Given the description of an element on the screen output the (x, y) to click on. 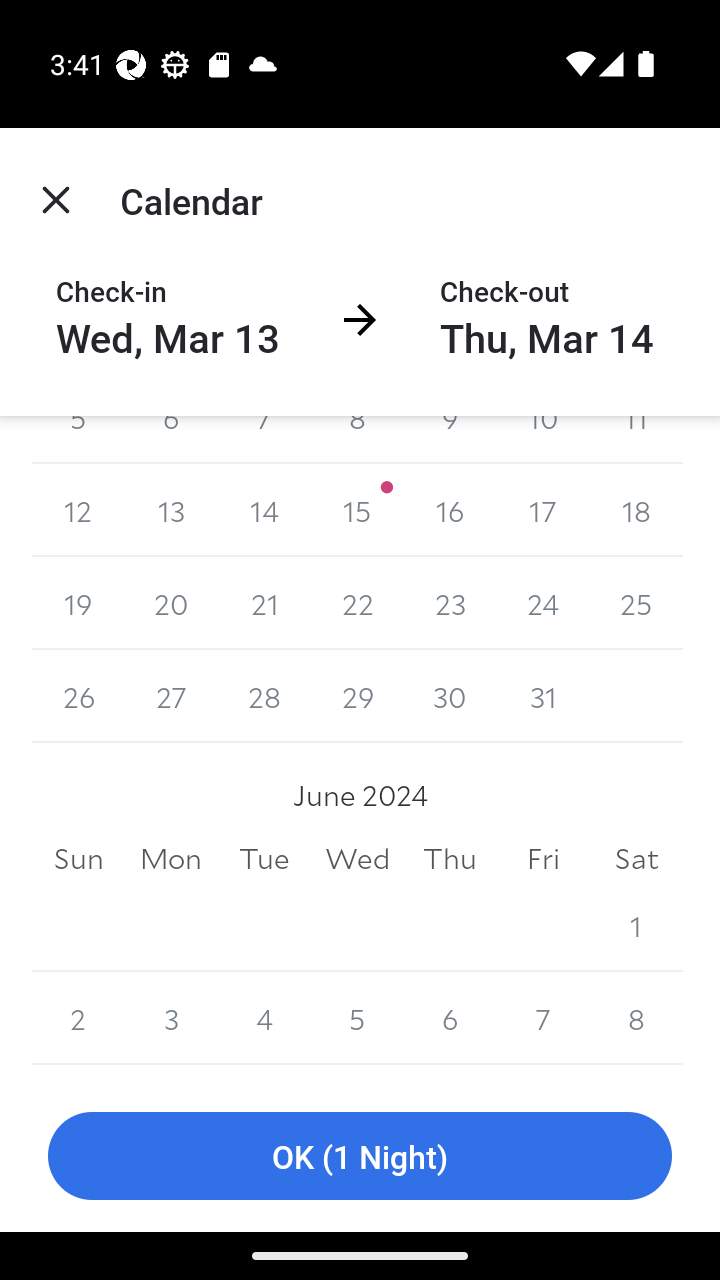
12 12 May 2024 (78, 509)
13 13 May 2024 (171, 509)
14 14 May 2024 (264, 509)
15 15 May 2024 (357, 509)
16 16 May 2024 (449, 509)
17 17 May 2024 (542, 509)
18 18 May 2024 (636, 509)
19 19 May 2024 (78, 603)
20 20 May 2024 (171, 603)
21 21 May 2024 (264, 603)
22 22 May 2024 (357, 603)
23 23 May 2024 (449, 603)
24 24 May 2024 (542, 603)
25 25 May 2024 (636, 603)
26 26 May 2024 (78, 696)
27 27 May 2024 (171, 696)
28 28 May 2024 (264, 696)
29 29 May 2024 (357, 696)
30 30 May 2024 (449, 696)
31 31 May 2024 (542, 696)
Sun (78, 858)
Mon (171, 858)
Tue (264, 858)
Wed (357, 858)
Thu (449, 858)
Fri (542, 858)
Sat (636, 858)
1 1 June 2024 (636, 925)
2 2 June 2024 (78, 1017)
3 3 June 2024 (171, 1017)
4 4 June 2024 (264, 1017)
5 5 June 2024 (357, 1017)
6 6 June 2024 (449, 1017)
7 7 June 2024 (542, 1017)
8 8 June 2024 (636, 1017)
OK (1 Night) (359, 1156)
